Given the description of an element on the screen output the (x, y) to click on. 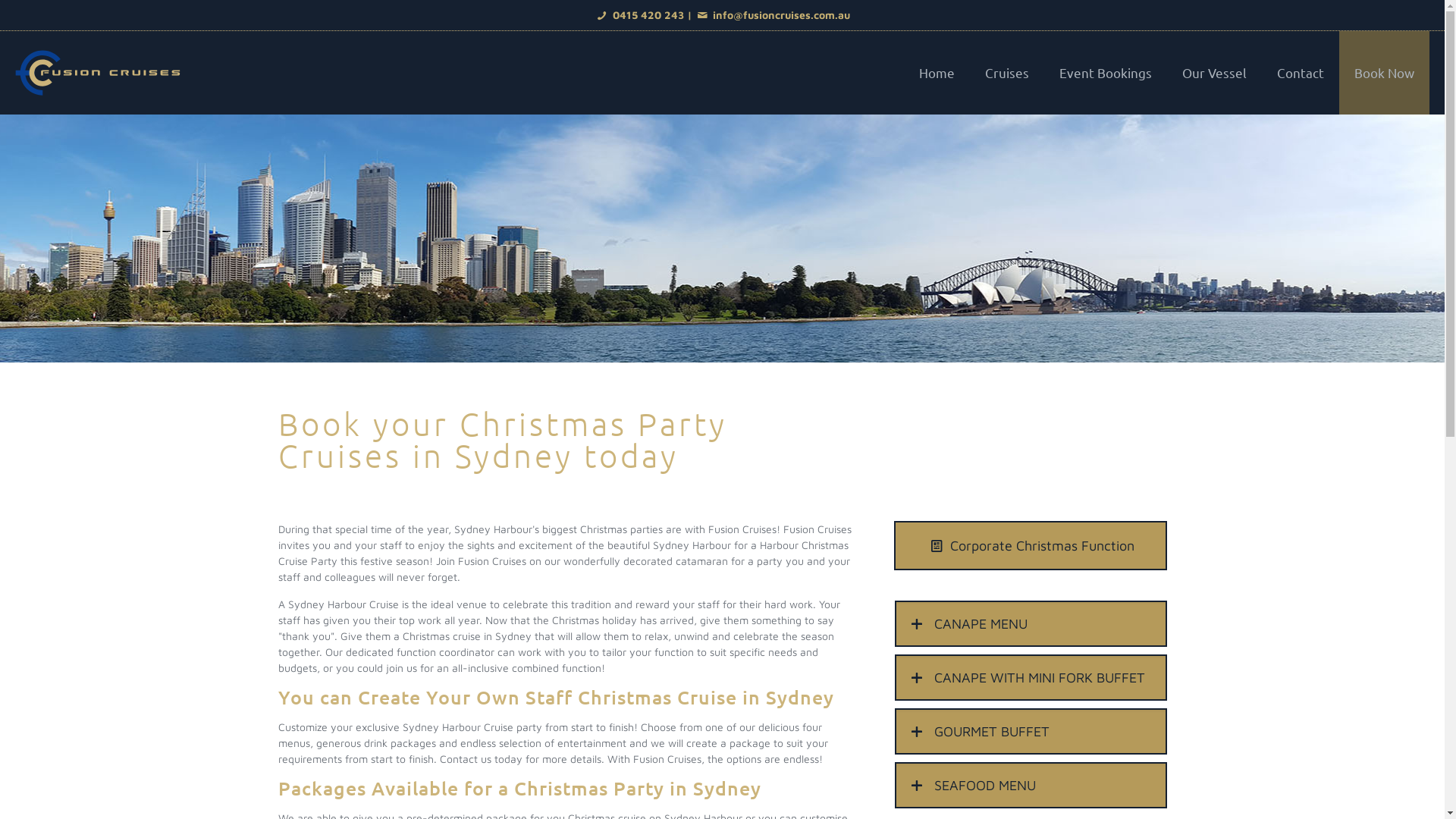
Event Bookings Element type: text (1105, 72)
Book Now Element type: text (1384, 72)
Contact Element type: text (1300, 72)
Our Vessel Element type: text (1214, 72)
Corporate Christmas Function Element type: text (1030, 545)
info@fusioncruises.com.au Element type: text (772, 14)
Home Element type: text (936, 72)
Cruises Element type: text (1006, 72)
